Given the description of an element on the screen output the (x, y) to click on. 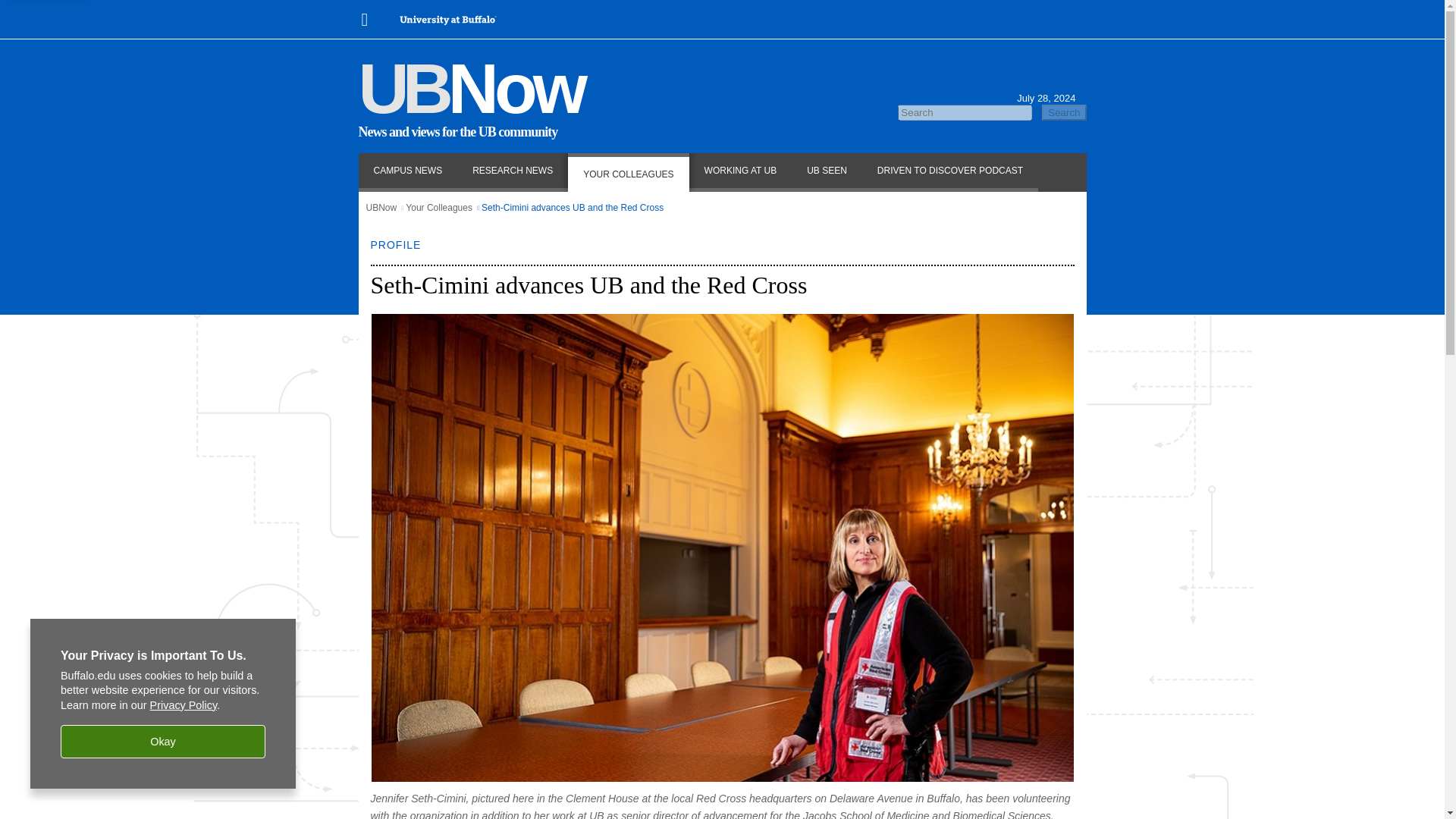
Okay (162, 741)
UBNow (380, 207)
Privacy Policy (182, 705)
UB SEEN (826, 172)
Your Colleagues (438, 207)
Search (1064, 112)
WORKING AT UB (740, 172)
RESEARCH NEWS (512, 172)
CAMPUS NEWS (407, 172)
UBNow (470, 88)
YOUR COLLEAGUES (627, 172)
DRIVEN TO DISCOVER PODCAST (949, 172)
Search (1064, 112)
